Given the description of an element on the screen output the (x, y) to click on. 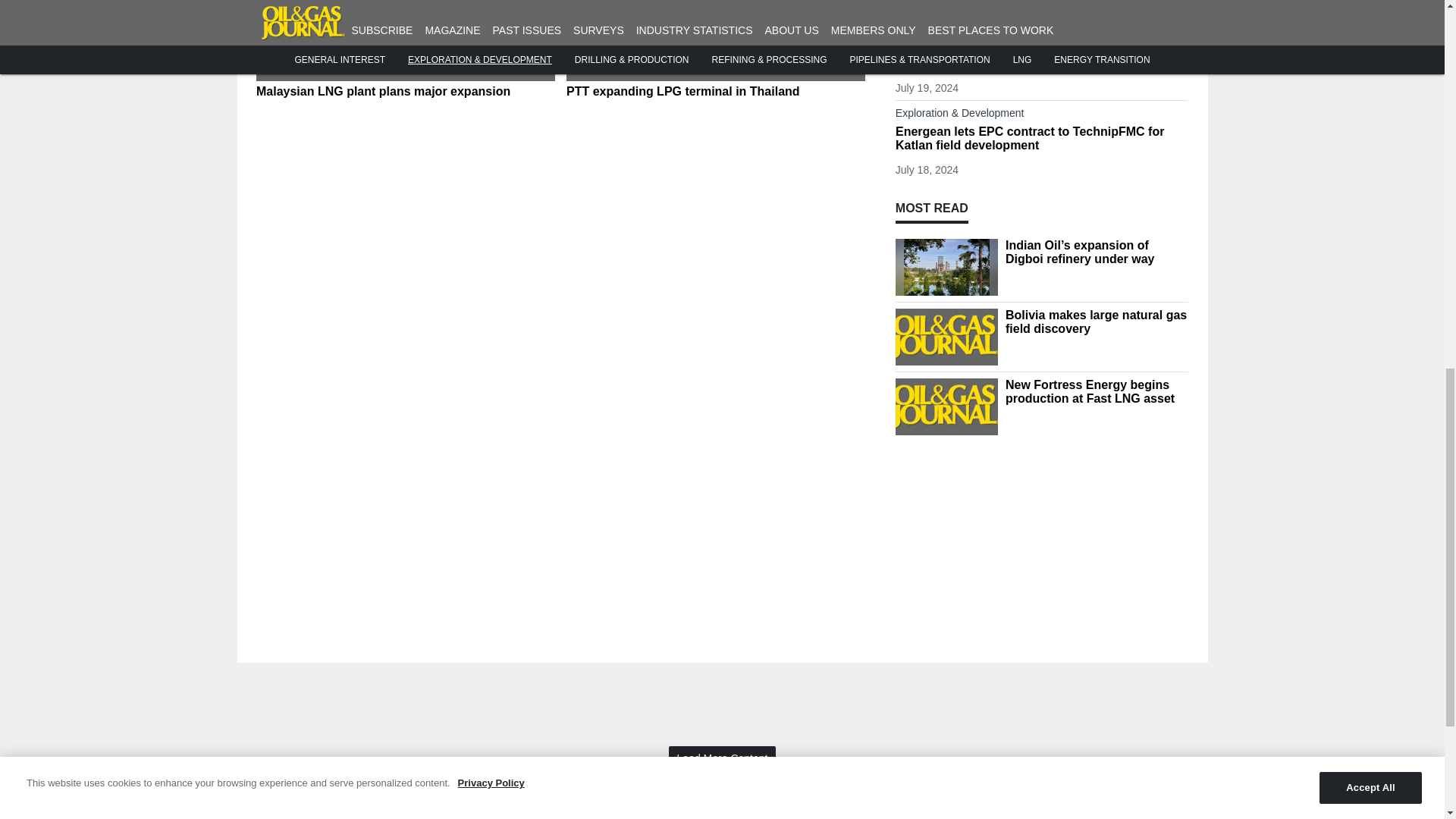
Discoveries (1042, 47)
Load More Content (722, 758)
New Fortress Energy begins production at Fast LNG asset (1097, 391)
PTT expanding LPG terminal in Thailand (715, 91)
Bolivia makes large natural gas field discovery (1097, 321)
Malaysian LNG plant plans major expansion (405, 91)
Bolivia makes large natural gas field discovery (1042, 63)
